Given the description of an element on the screen output the (x, y) to click on. 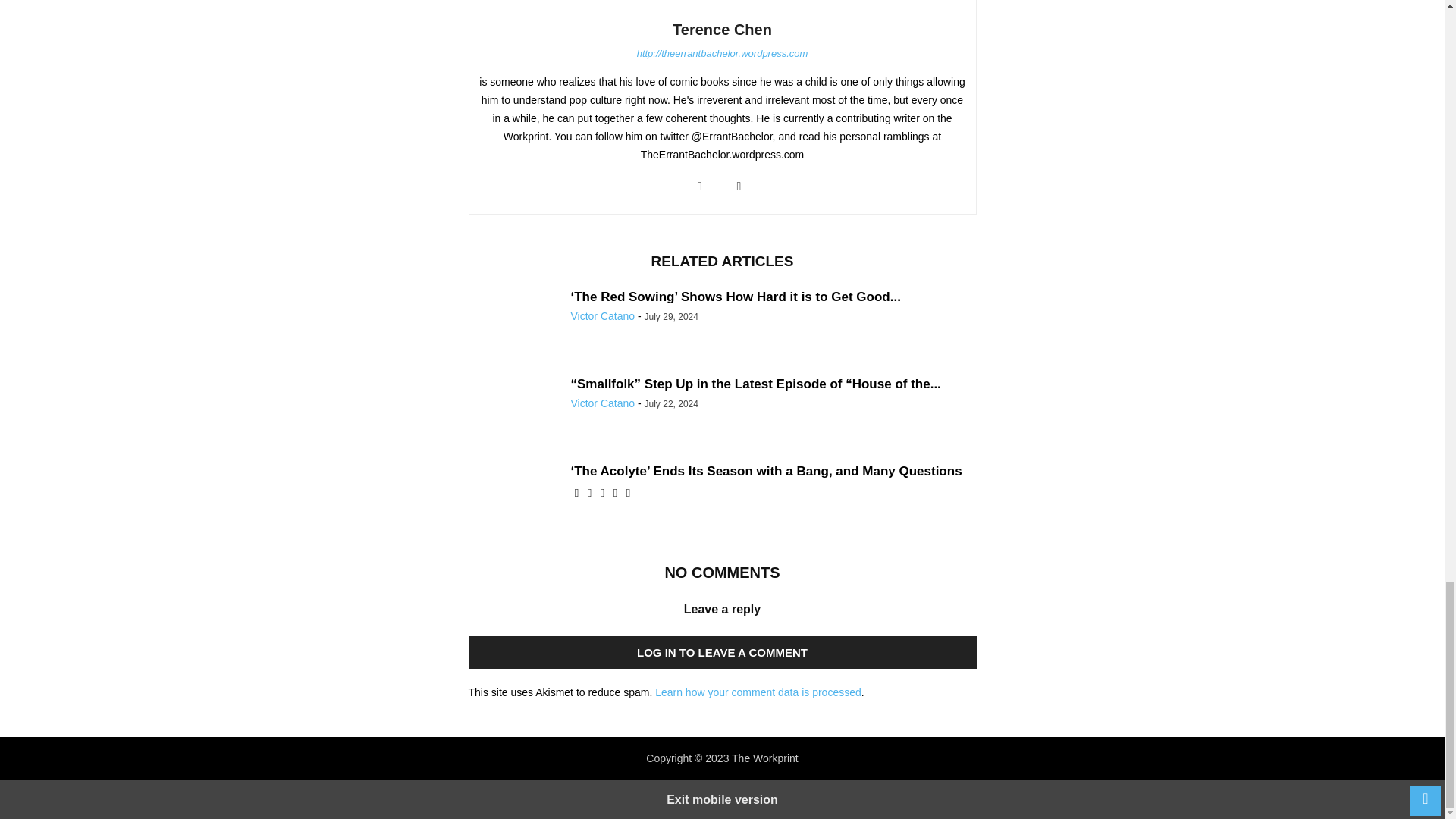
Victor Catano (602, 316)
Terence Chen (721, 29)
Victor Catano (602, 403)
